Given the description of an element on the screen output the (x, y) to click on. 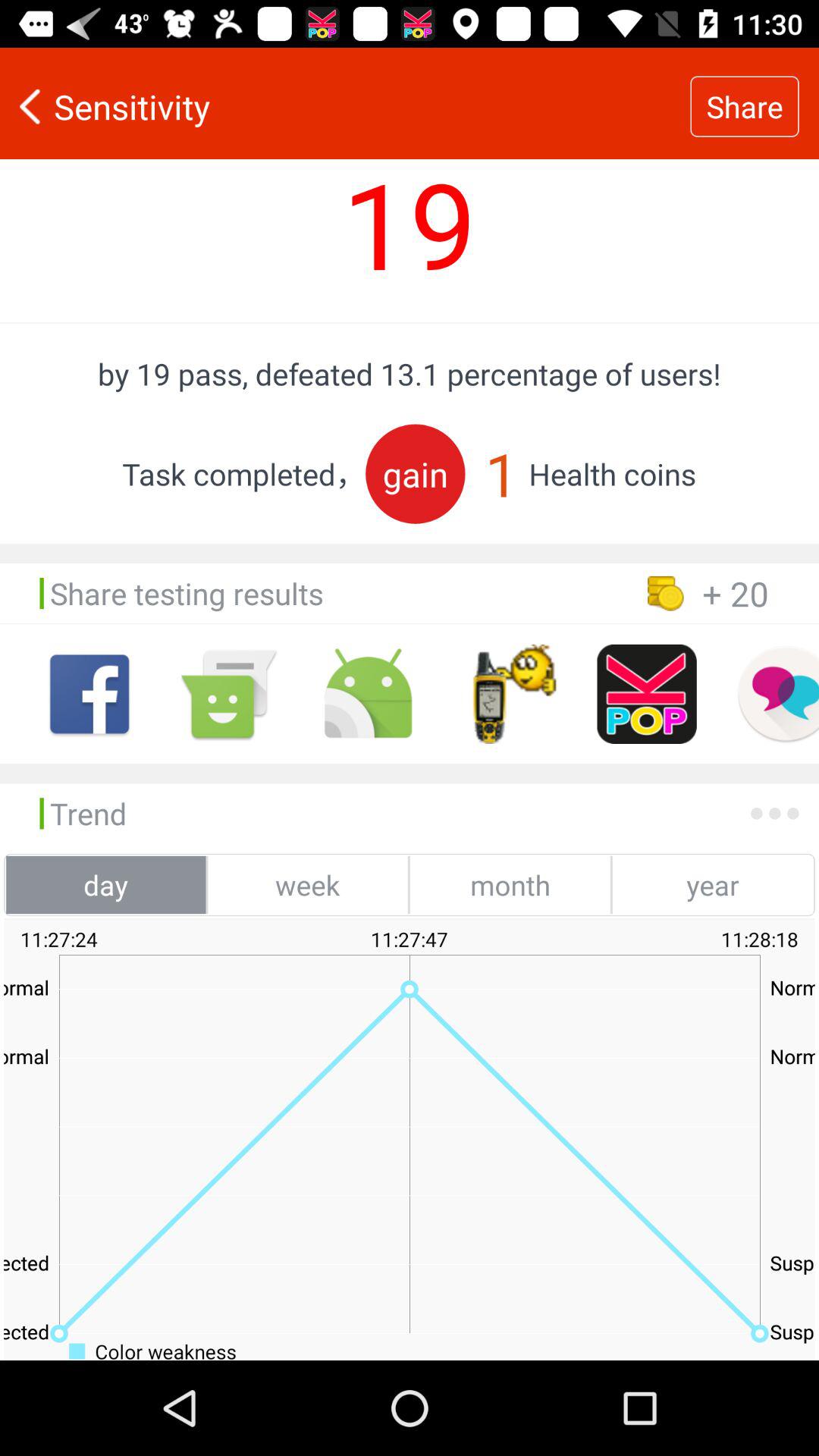
toggle facebook option (89, 693)
